Given the description of an element on the screen output the (x, y) to click on. 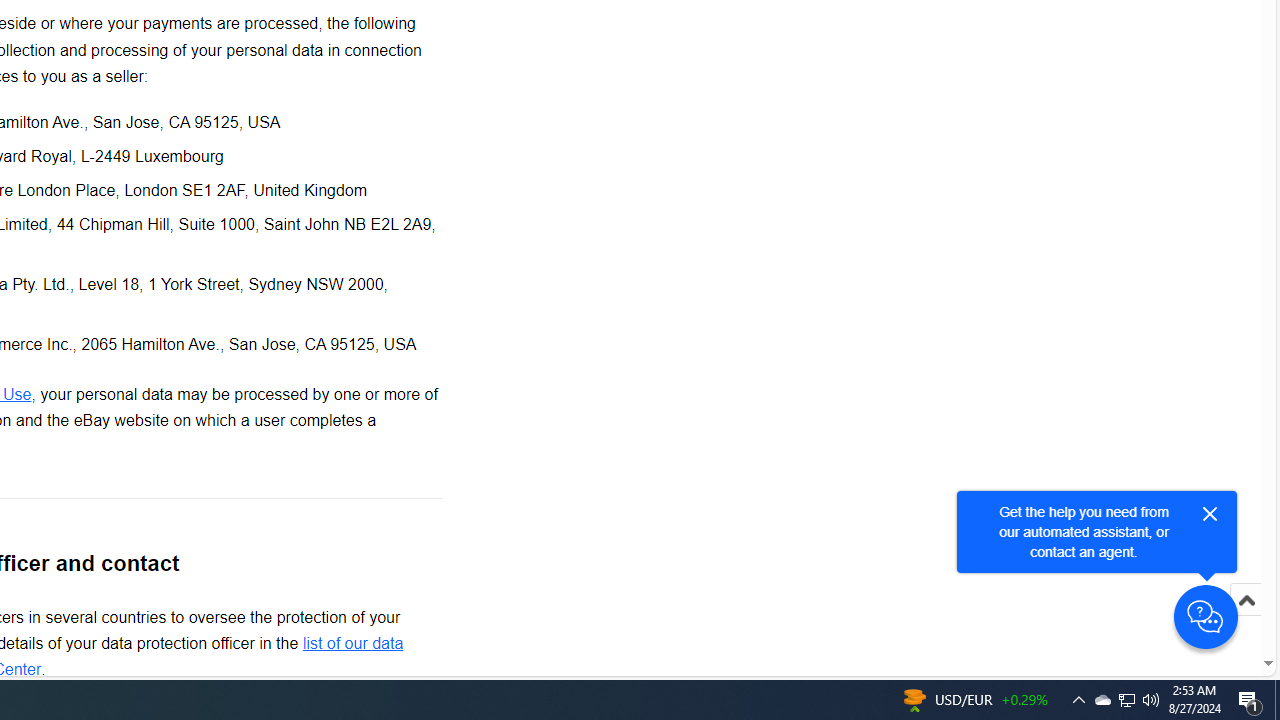
Scroll to top (1246, 620)
Scroll to top (1246, 599)
